Given the description of an element on the screen output the (x, y) to click on. 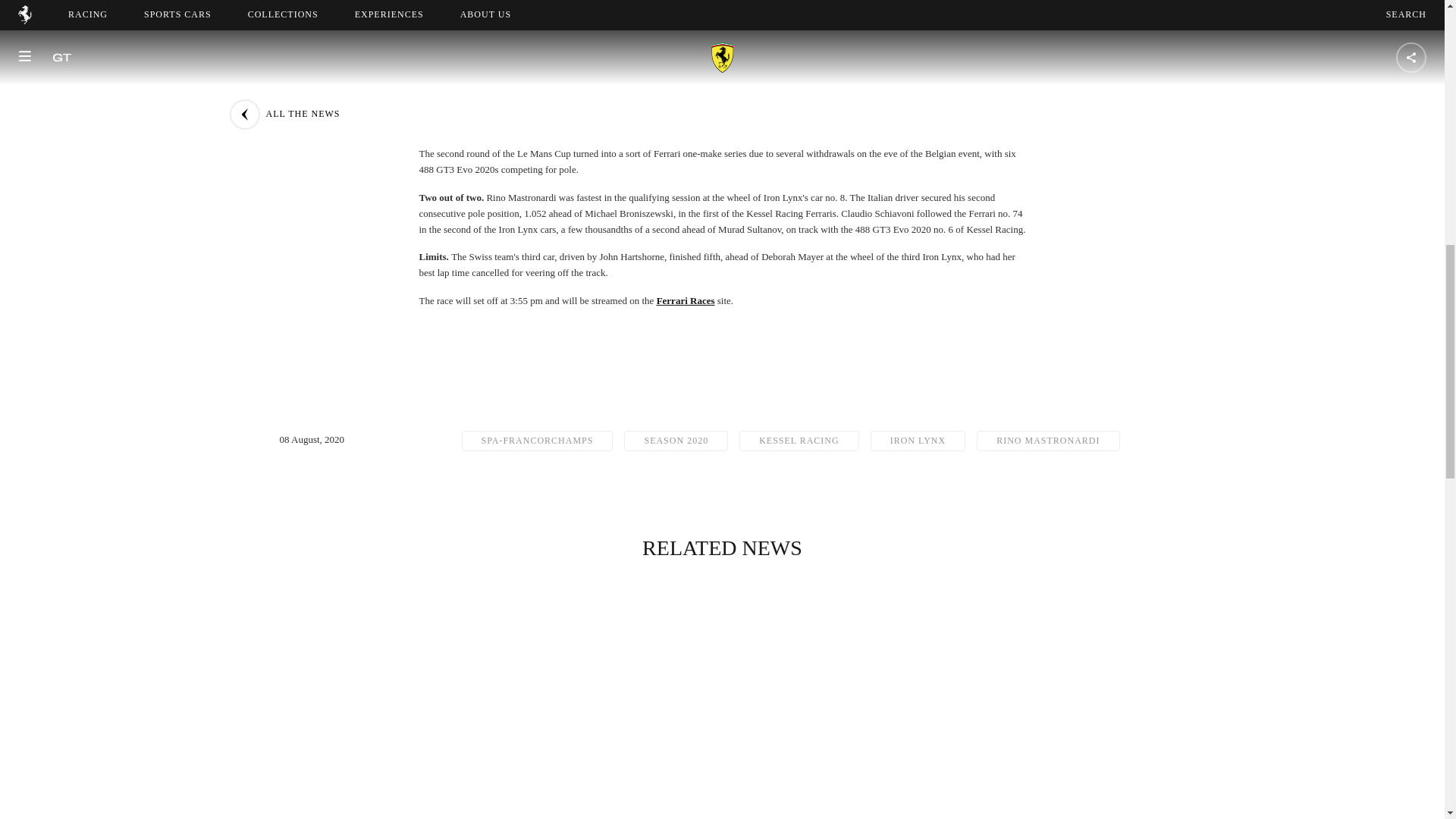
Ferrari Races (685, 300)
SPA-FRANCORCHAMPS (536, 440)
SEASON 2020 (676, 440)
RINO MASTRONARDI (1047, 440)
IRON LYNX (917, 440)
Spa-Francorchamps - Ferrari 488GT3 EVO 2020 (721, 18)
KESSEL RACING (799, 440)
